Given the description of an element on the screen output the (x, y) to click on. 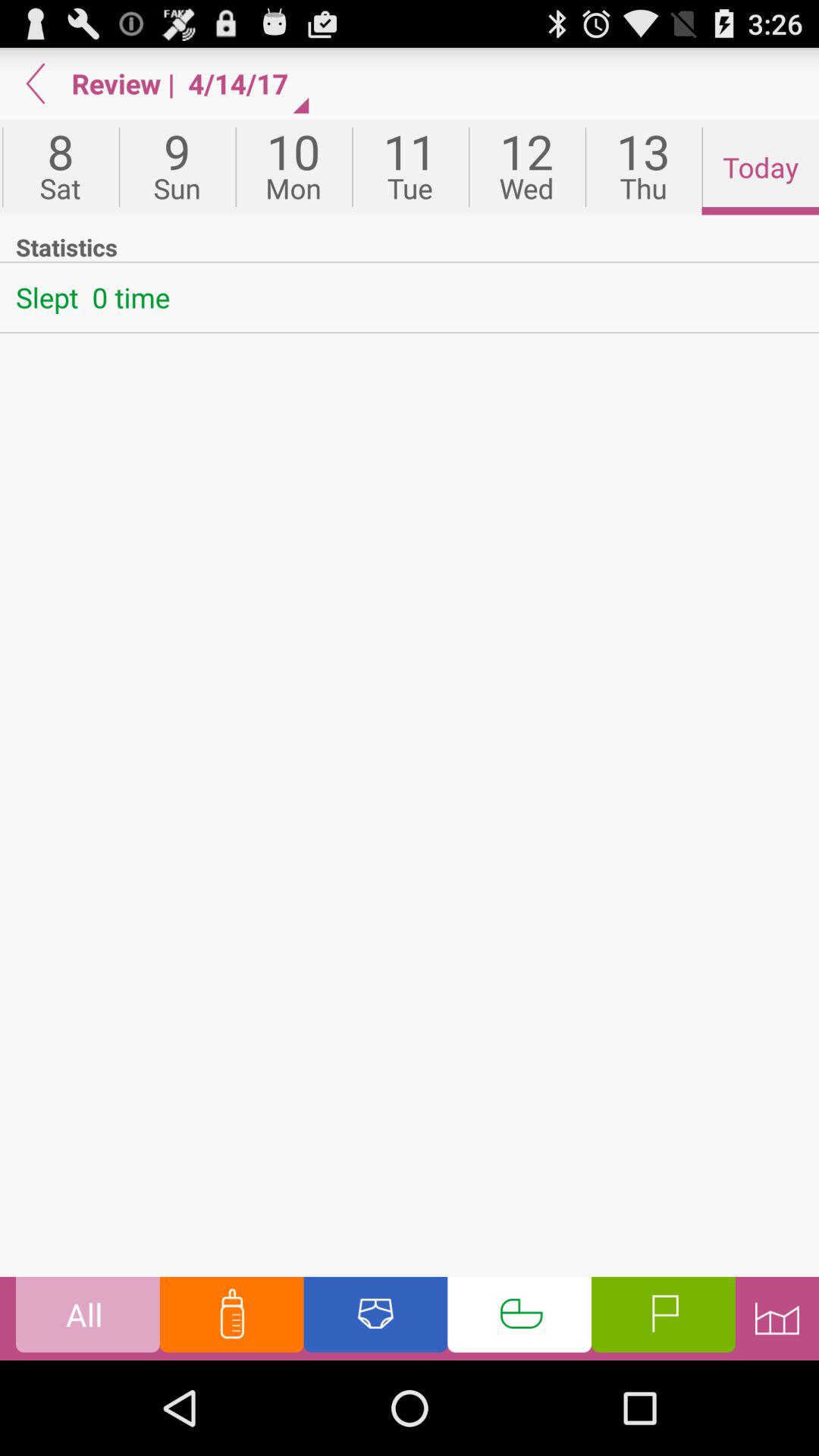
press the icon next to the review (35, 83)
